Given the description of an element on the screen output the (x, y) to click on. 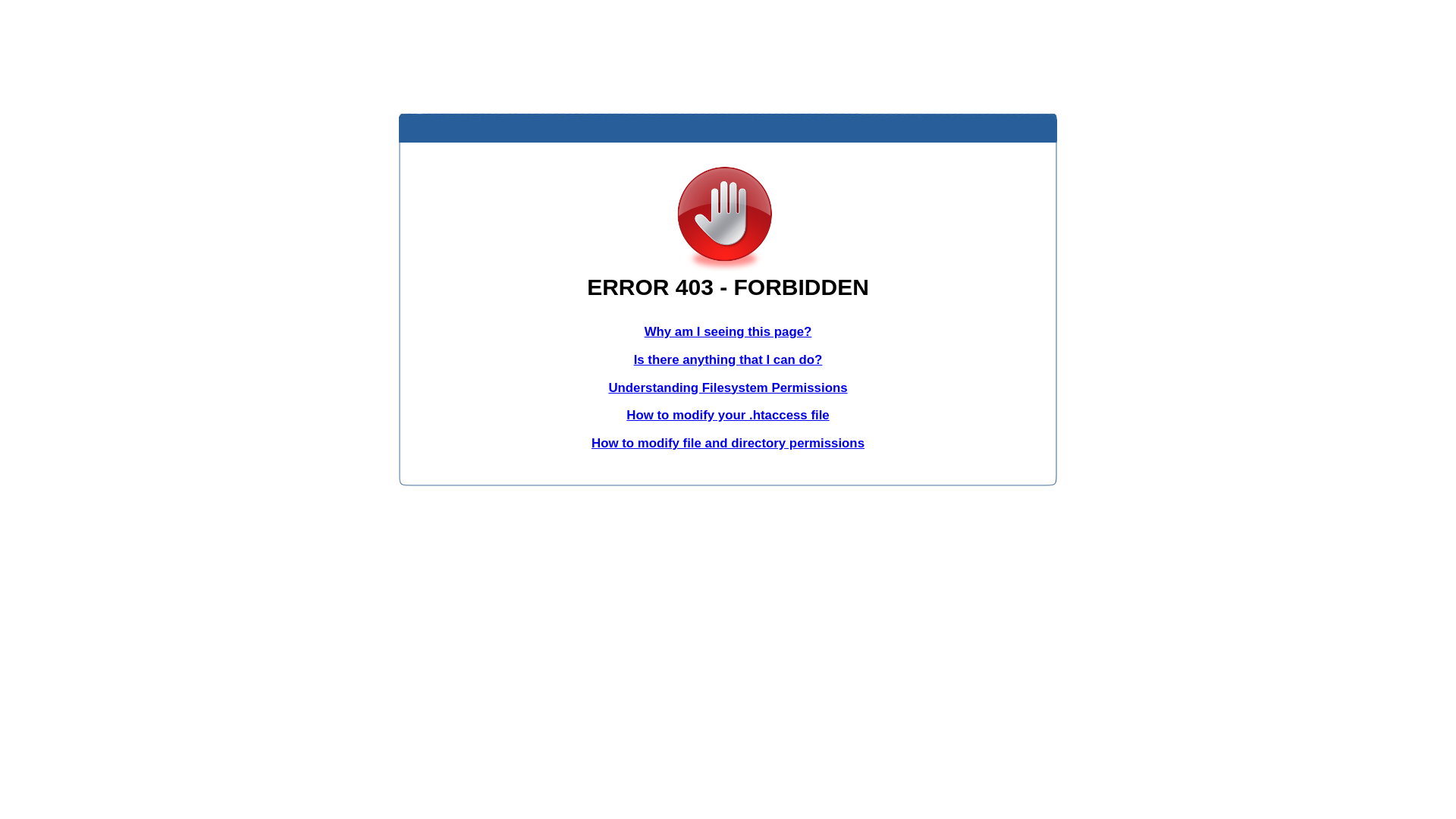
Why am I seeing this page? Element type: text (728, 331)
Is there anything that I can do? Element type: text (727, 359)
How to modify your .htaccess file Element type: text (727, 414)
How to modify file and directory permissions Element type: text (727, 443)
Understanding Filesystem Permissions Element type: text (727, 387)
